Given the description of an element on the screen output the (x, y) to click on. 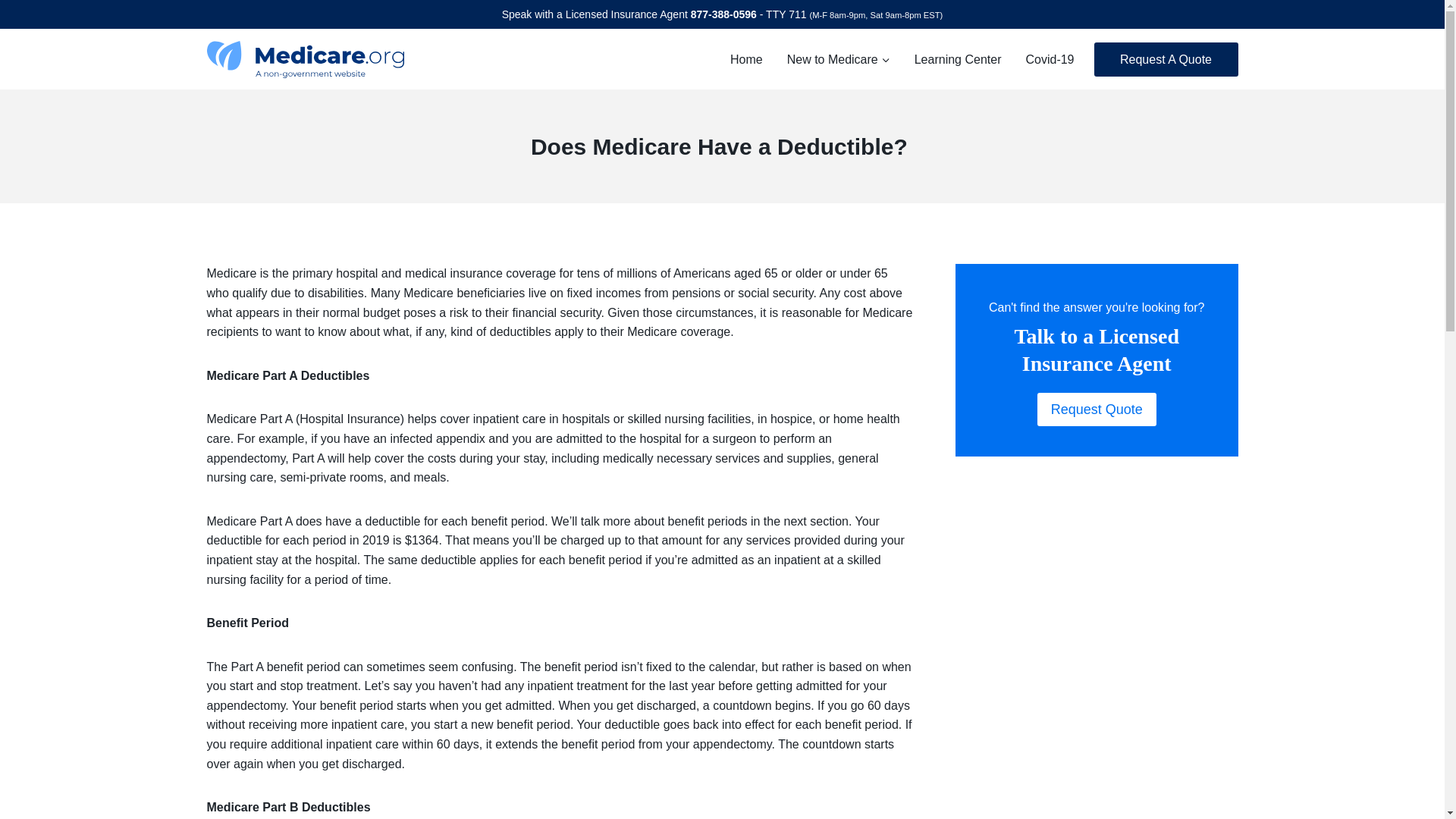
Request Quote (1096, 409)
Covid-19 (1049, 59)
877-388-0596 (723, 14)
Learning Center (957, 59)
Request A Quote (1165, 59)
Home (745, 59)
New to Medicare (838, 59)
